Given the description of an element on the screen output the (x, y) to click on. 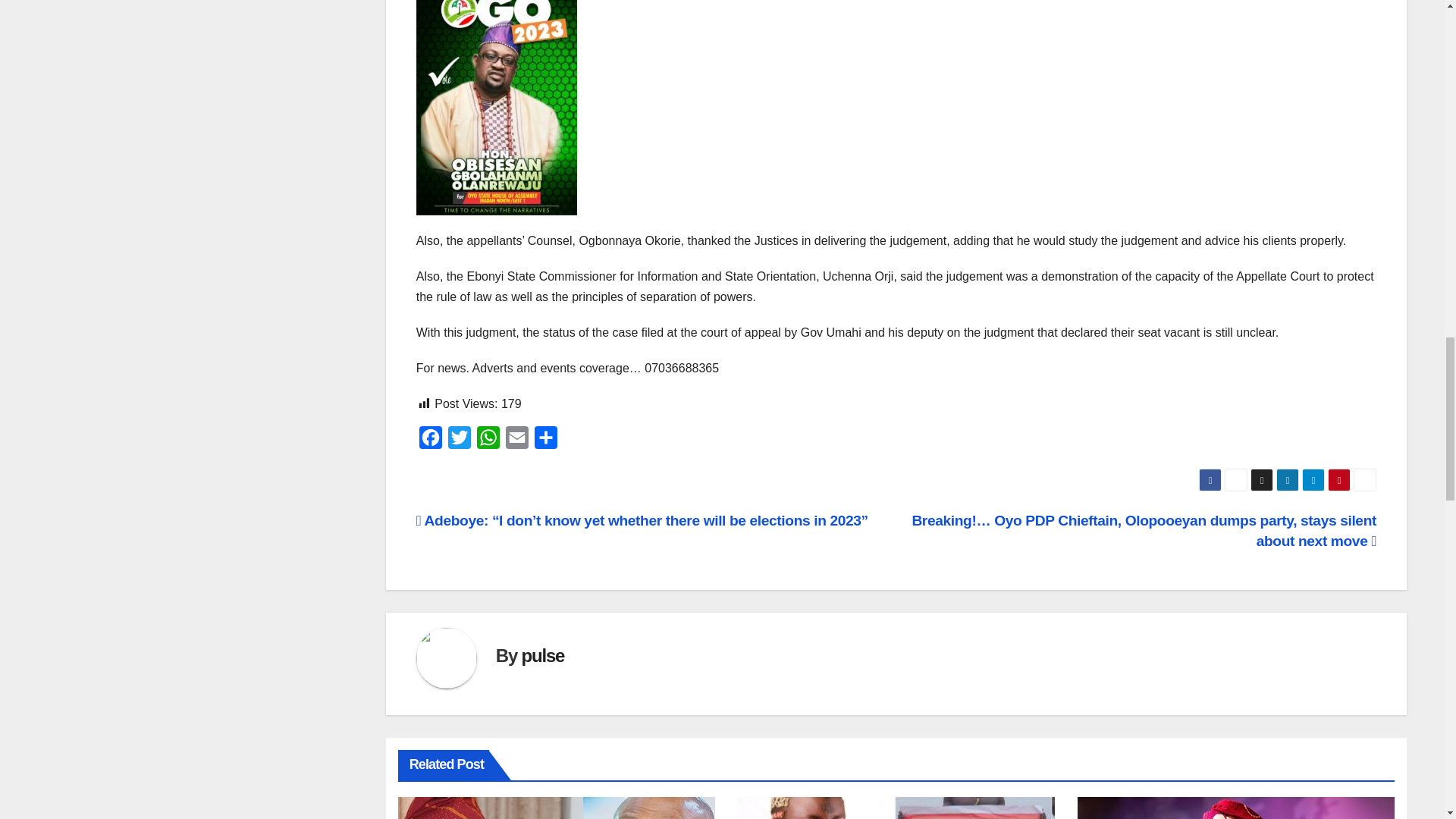
Twitter (459, 440)
Facebook (430, 440)
Twitter (459, 440)
Facebook (430, 440)
WhatsApp (488, 440)
Share (545, 440)
WhatsApp (488, 440)
Email (516, 440)
